Given the description of an element on the screen output the (x, y) to click on. 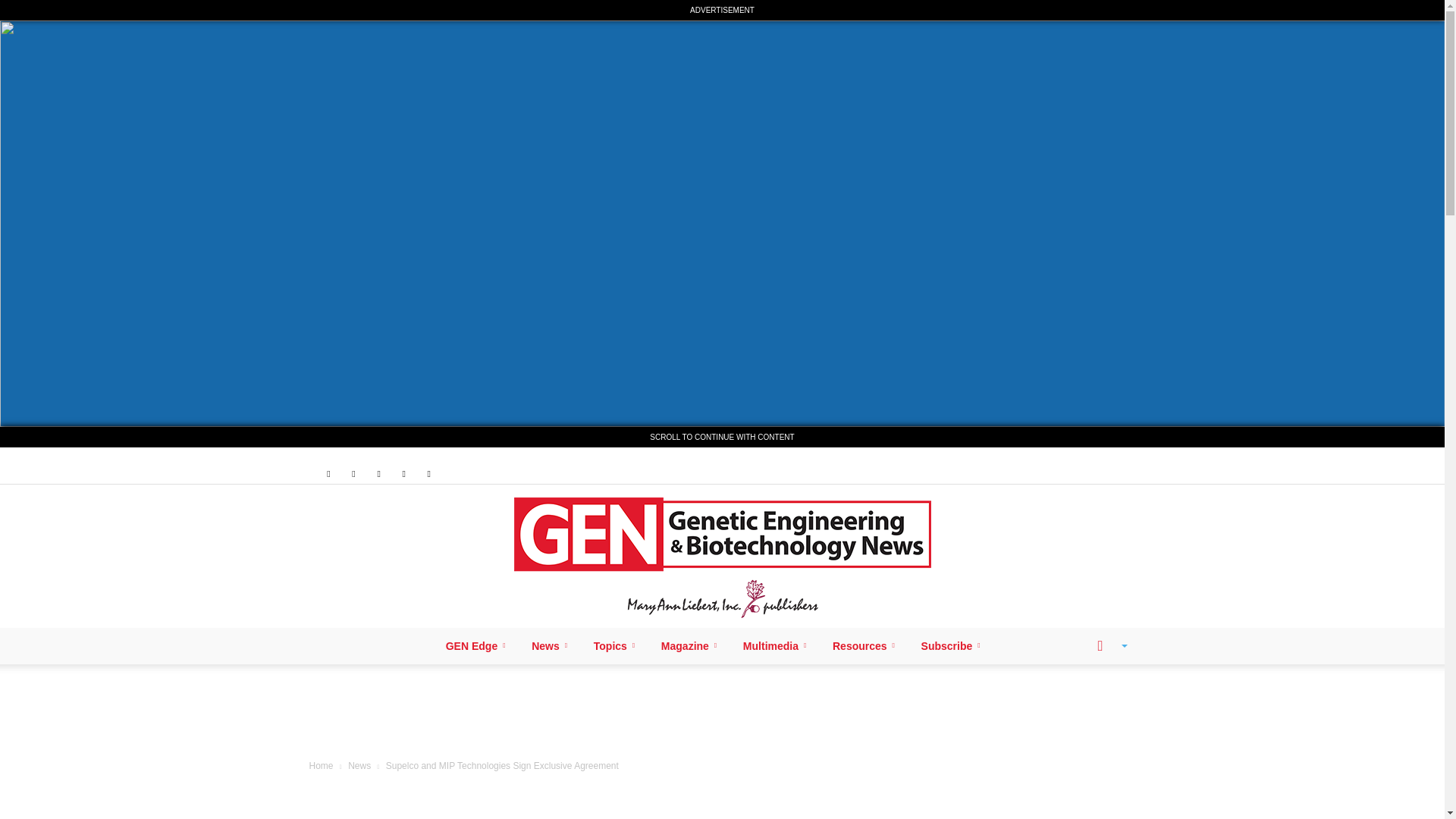
Youtube (429, 473)
RSS (379, 473)
Facebook (328, 473)
Linkedin (353, 473)
Twitter (403, 473)
3rd party ad content (722, 713)
